Given the description of an element on the screen output the (x, y) to click on. 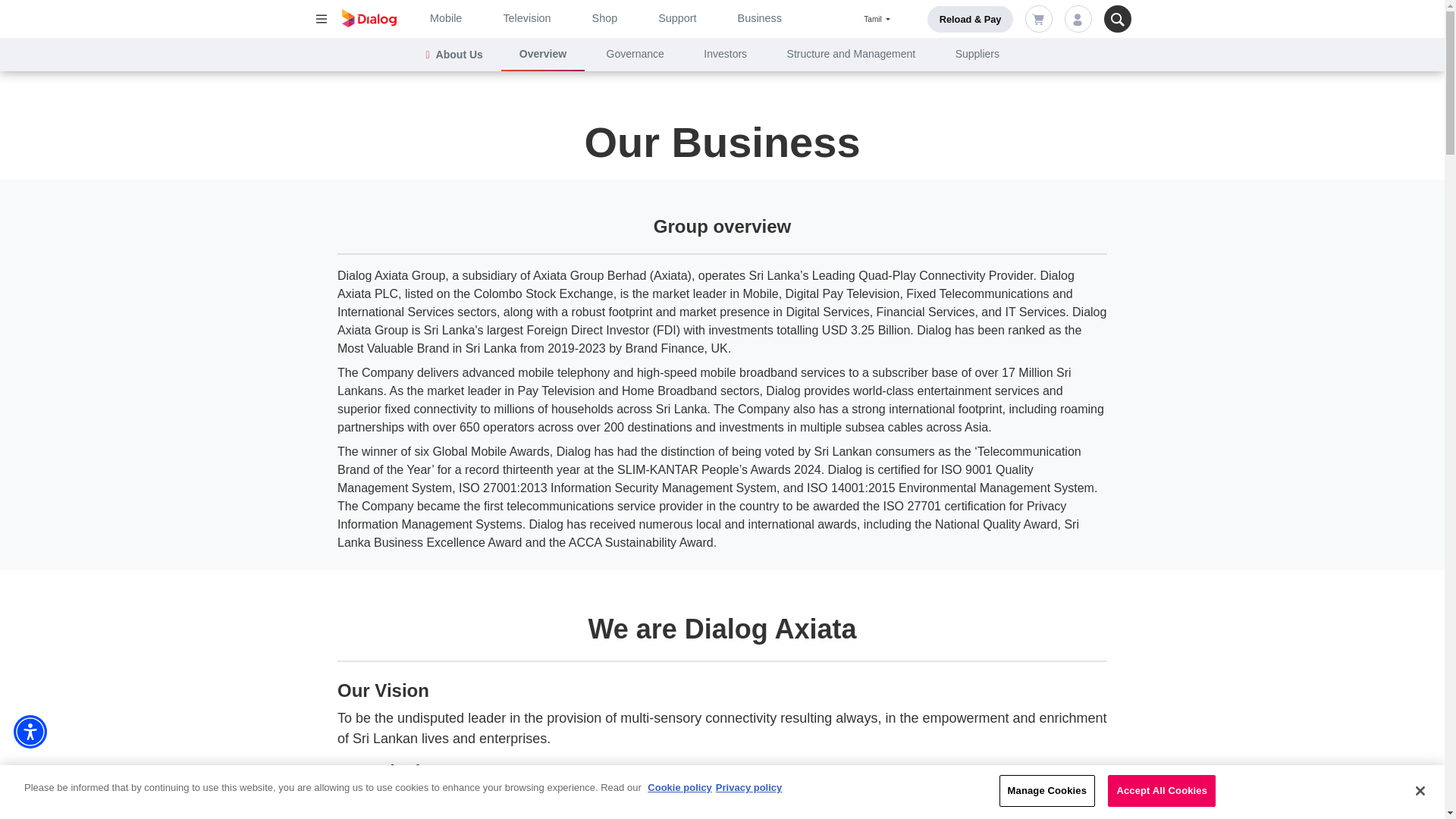
Shop (605, 18)
Structure and Management (851, 53)
Mobile (445, 18)
Support (676, 18)
Governance (635, 53)
Mobile (445, 18)
About Us (466, 54)
Investors (725, 53)
Support (676, 18)
Business (759, 18)
Overview (542, 54)
Television (525, 18)
Tamil (877, 19)
Accessibility Menu (29, 731)
Dialog Home (368, 18)
